Given the description of an element on the screen output the (x, y) to click on. 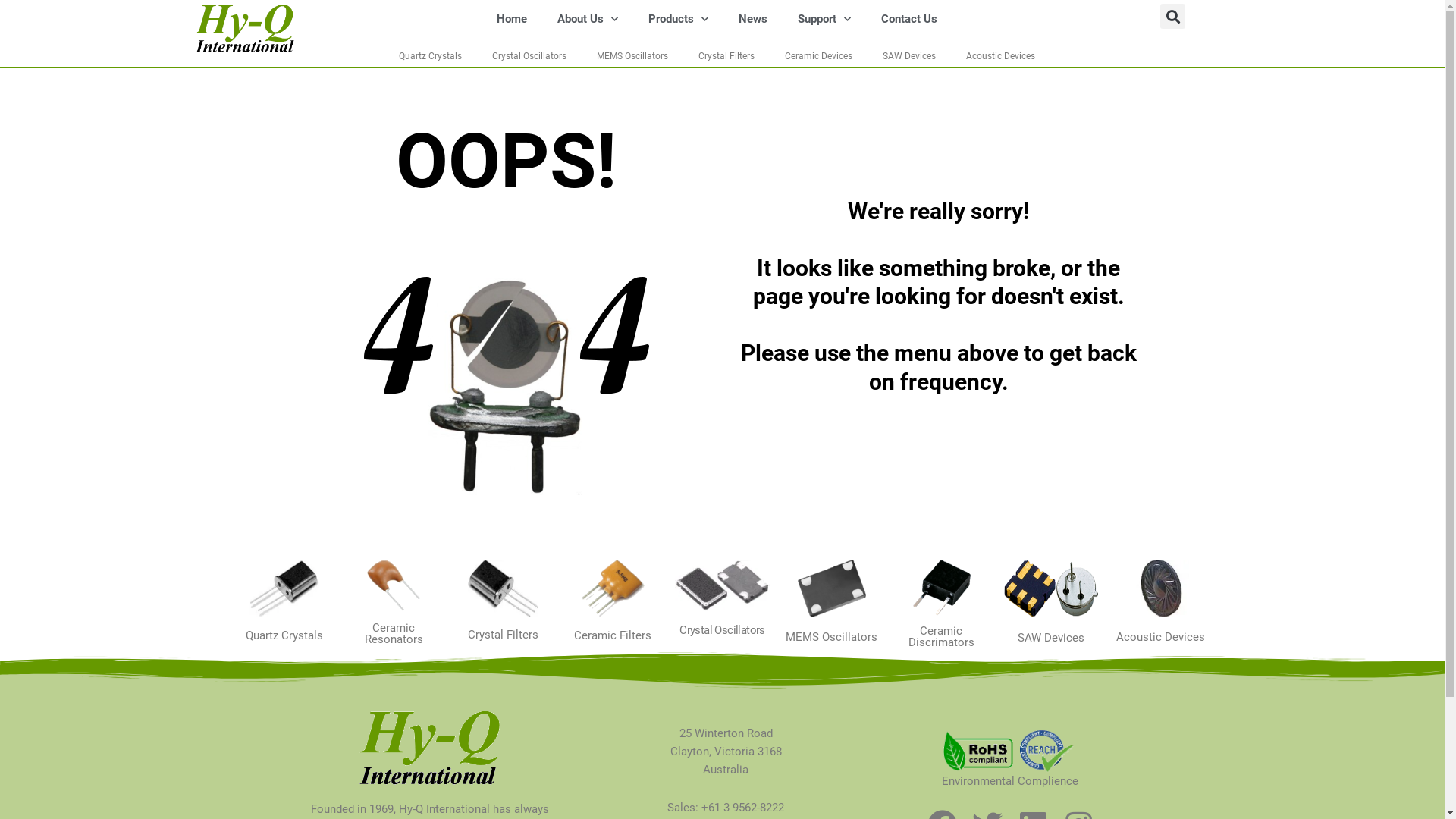
Products Element type: text (678, 18)
Acoustic Devices Element type: text (1000, 55)
SAW Devices Element type: text (908, 55)
Home Element type: text (511, 18)
Crystal Filters Element type: text (726, 55)
Quartz Crystals Element type: text (429, 55)
About Us Element type: text (587, 18)
Contact Us Element type: text (909, 18)
News Element type: text (752, 18)
Support Element type: text (824, 18)
Ceramic Devices Element type: text (818, 55)
MEMS Oscillators Element type: text (632, 55)
Crystal Oscillators Element type: text (528, 55)
